Given the description of an element on the screen output the (x, y) to click on. 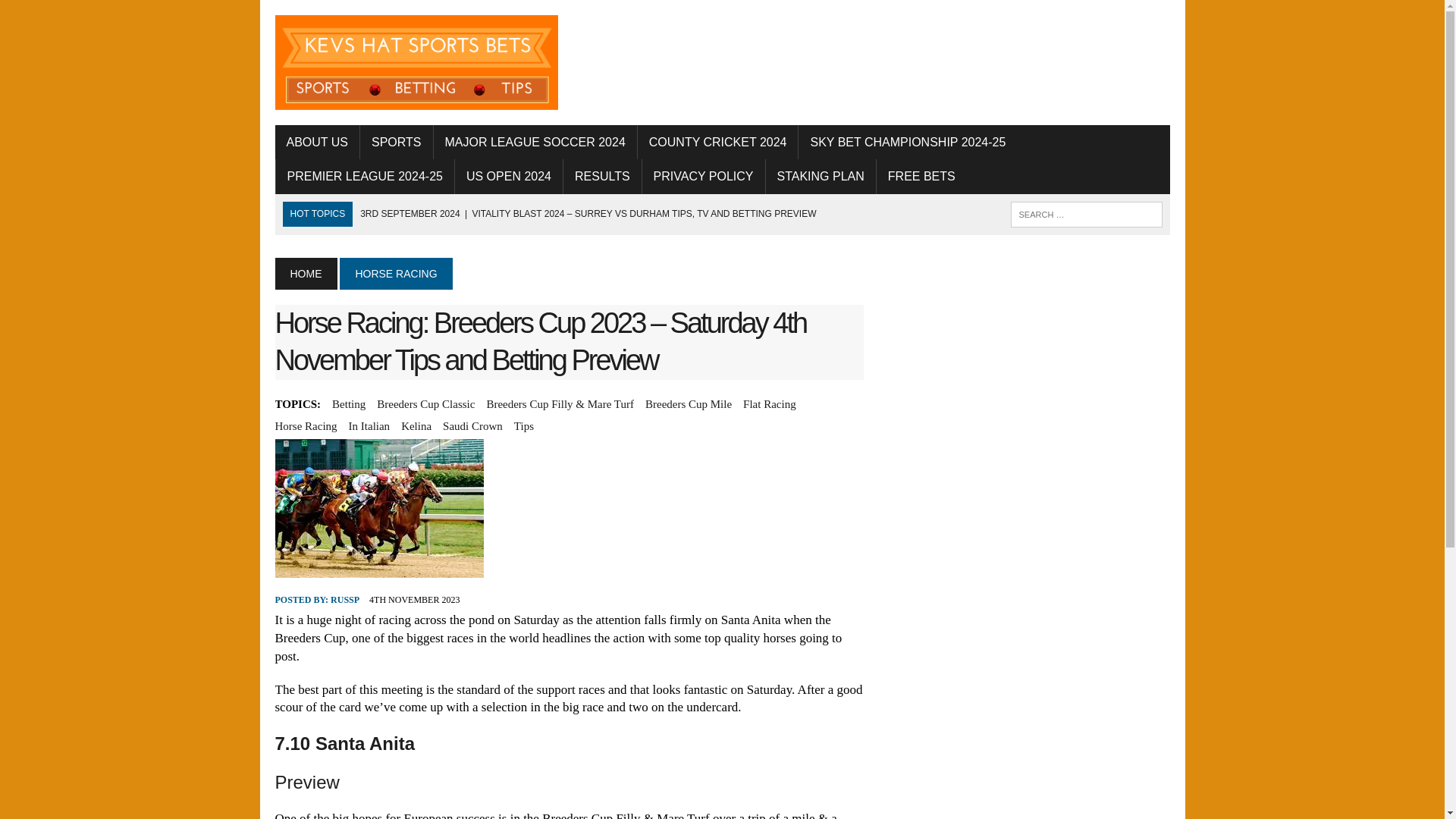
Kev's Hat Sports Bets (416, 62)
ABOUT US (317, 142)
SPORTS (395, 142)
